Given the description of an element on the screen output the (x, y) to click on. 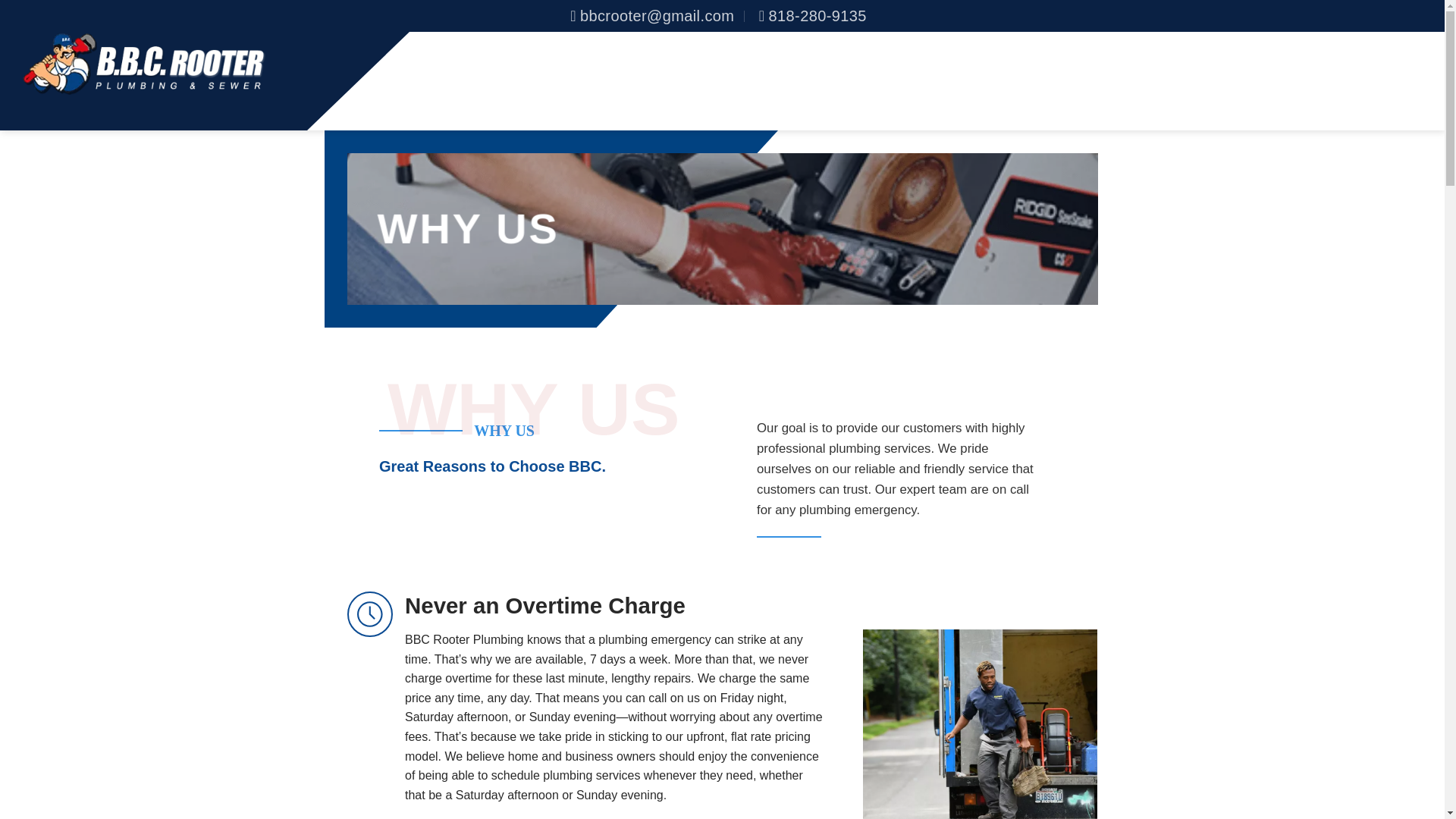
CONTACT US (1327, 80)
ABOUT US (995, 80)
GALLERY (1240, 80)
818-280-9135 (812, 15)
HOME (925, 80)
BLOG (1404, 80)
WHY US (1075, 80)
818-280-9135 (812, 15)
SERVICES (1157, 80)
BBC Rooter (143, 64)
